Given the description of an element on the screen output the (x, y) to click on. 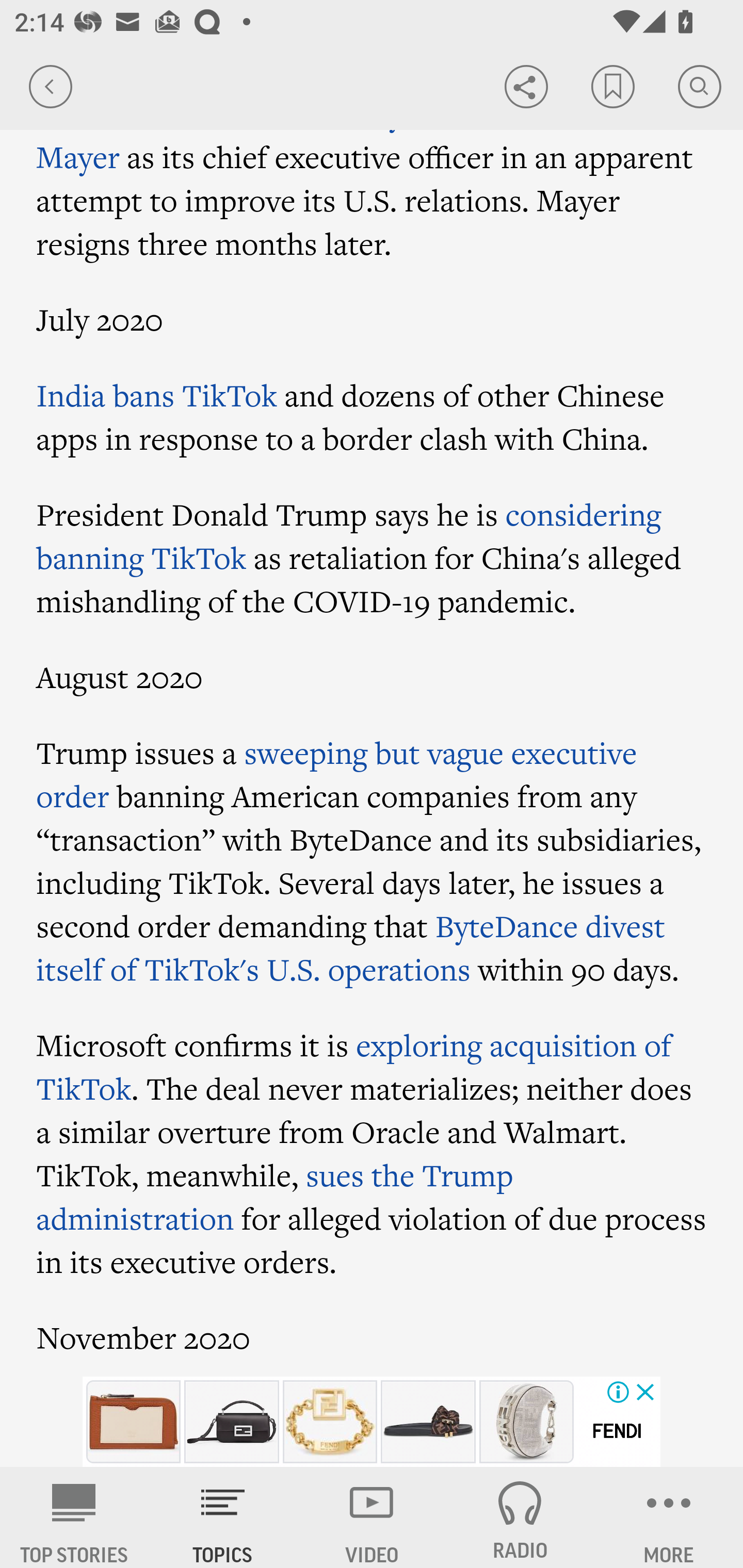
India bans TikTok (156, 395)
considering banning TikTok (349, 535)
sweeping but vague executive order (336, 773)
exploring acquisition of TikTok (353, 1066)
sues the Trump administration (275, 1197)
fendi-feel-brown-satin-slides-8x8142ae7sf0r7v (428, 1420)
AP News TOP STORIES (74, 1517)
TOPICS (222, 1517)
VIDEO (371, 1517)
RADIO (519, 1517)
MORE (668, 1517)
